Given the description of an element on the screen output the (x, y) to click on. 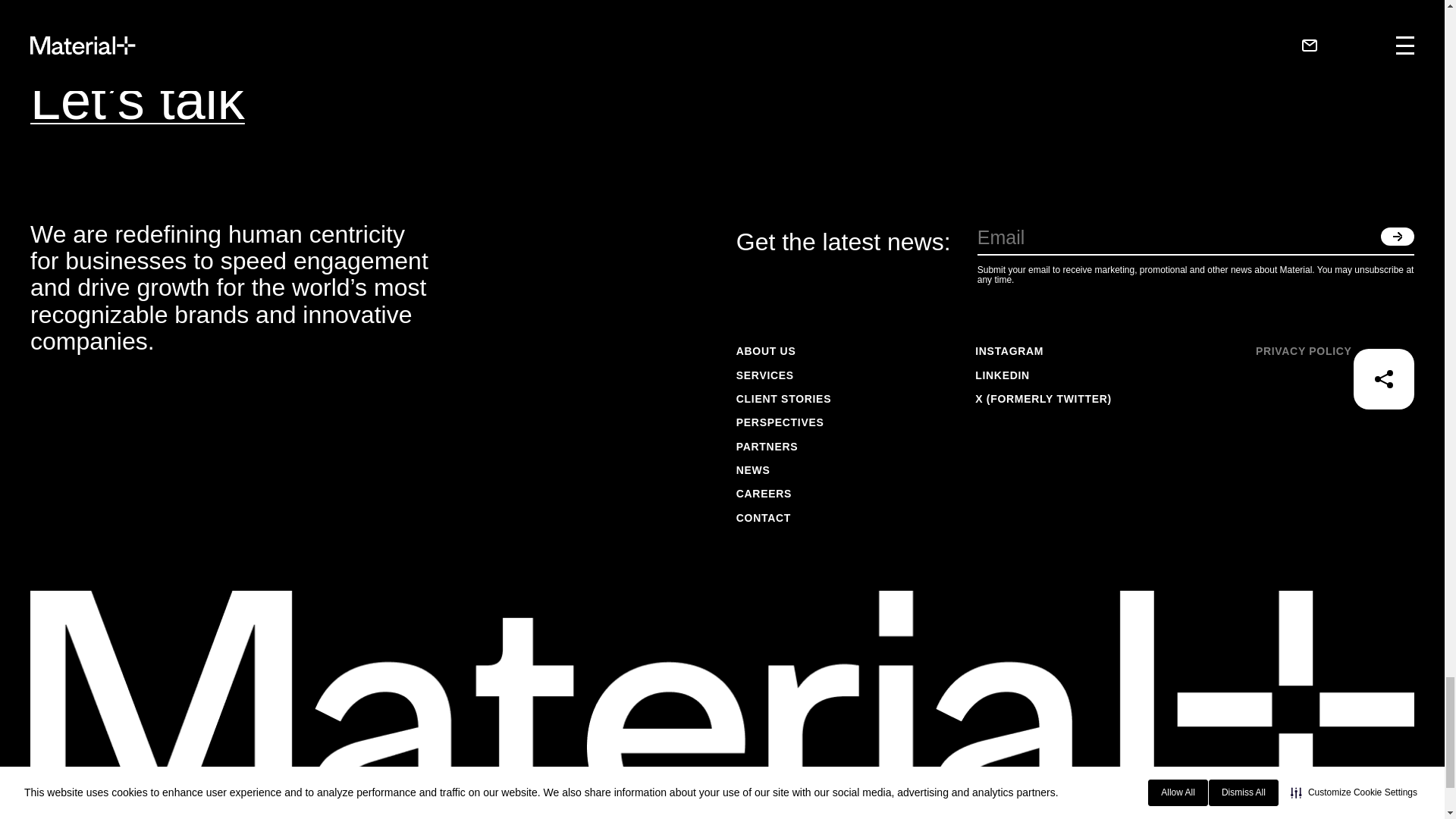
ABOUT US (783, 351)
SERVICES (783, 375)
